Given the description of an element on the screen output the (x, y) to click on. 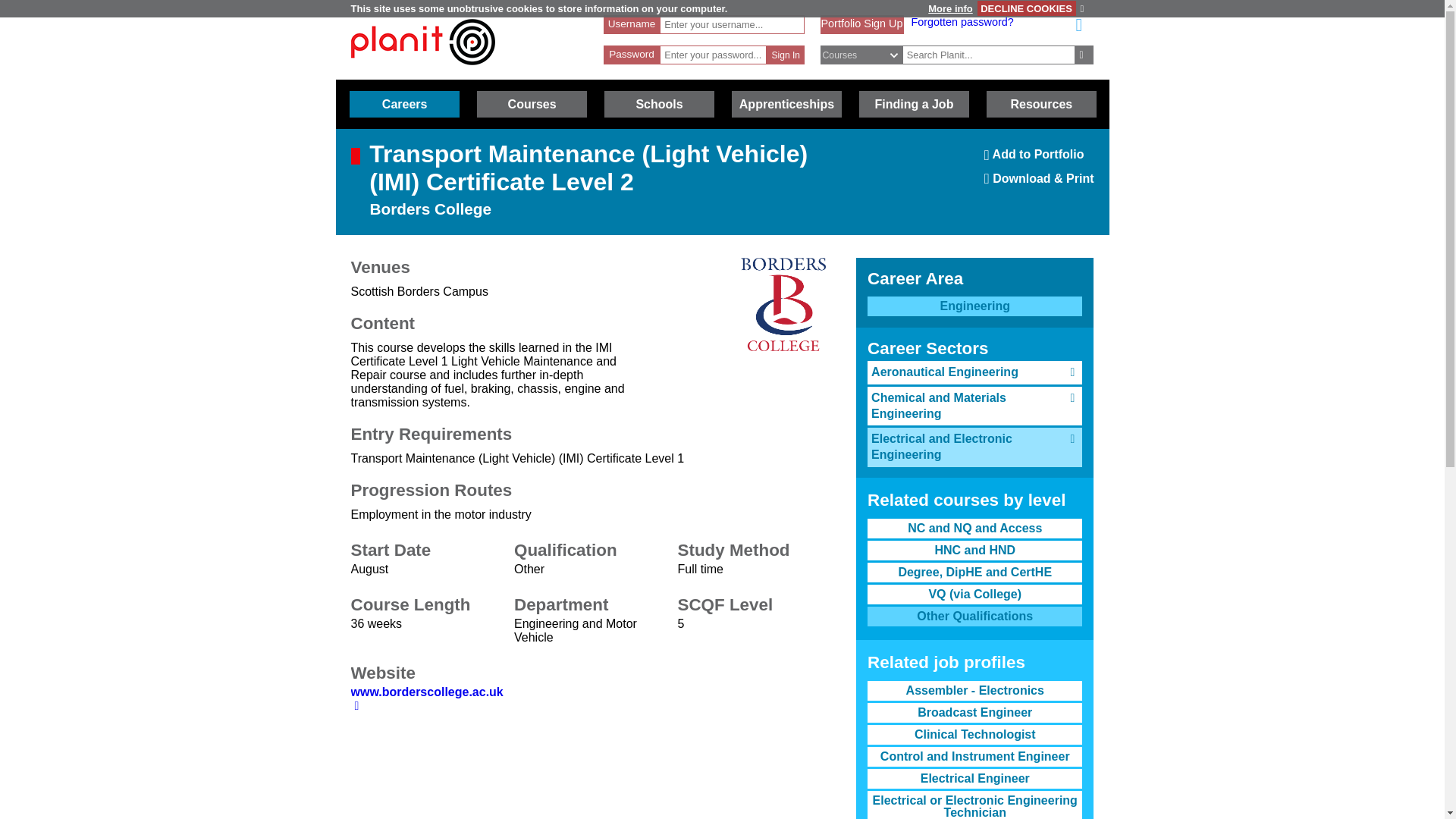
Select search type (869, 54)
Portfolio Sign Up (1039, 159)
Sign In (861, 23)
Search (786, 54)
Engineering (1084, 54)
Planit Home (974, 306)
Careers (422, 72)
Courses (404, 103)
More info (531, 103)
